Given the description of an element on the screen output the (x, y) to click on. 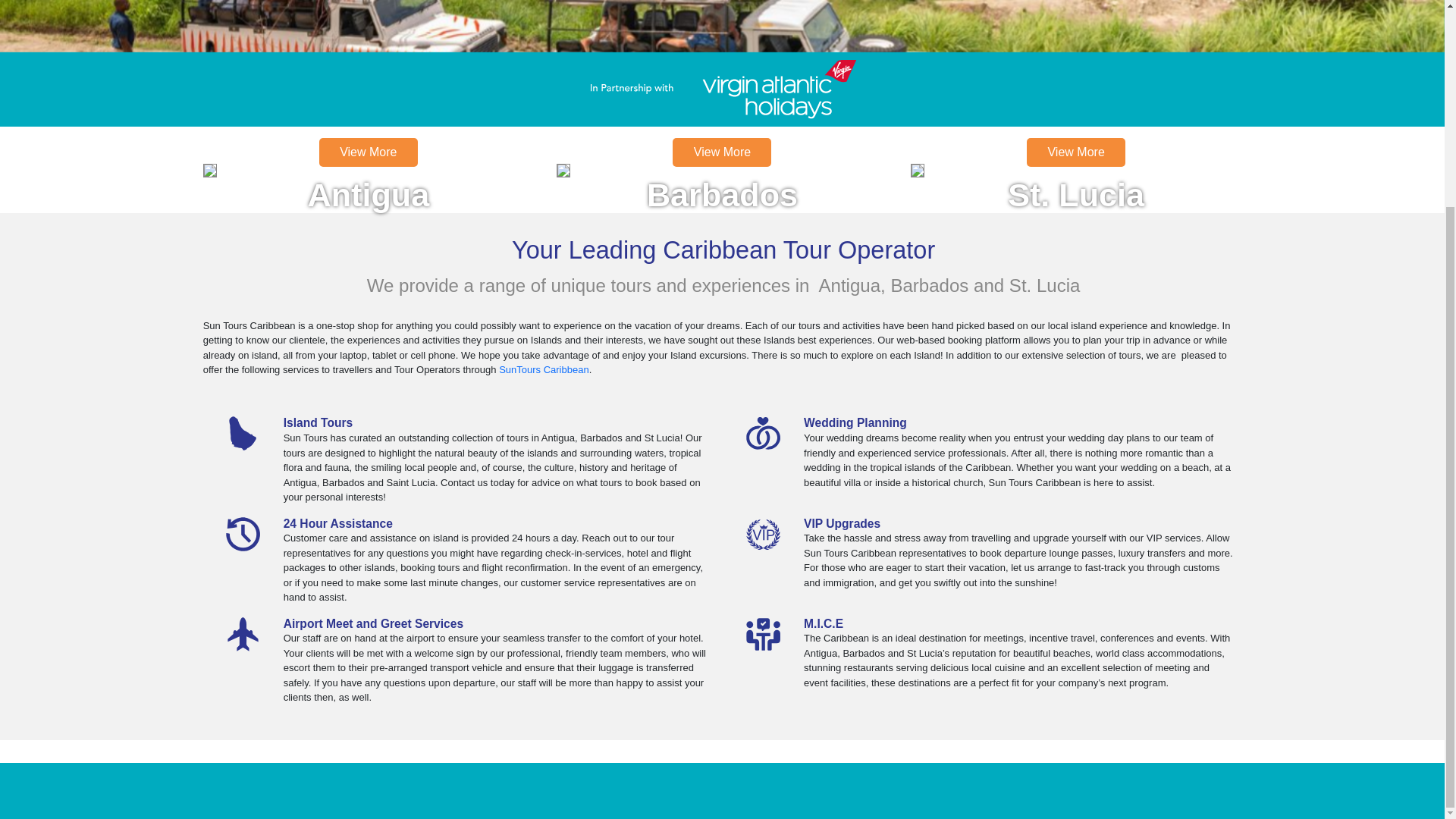
SunTours Caribbean (368, 169)
